Given the description of an element on the screen output the (x, y) to click on. 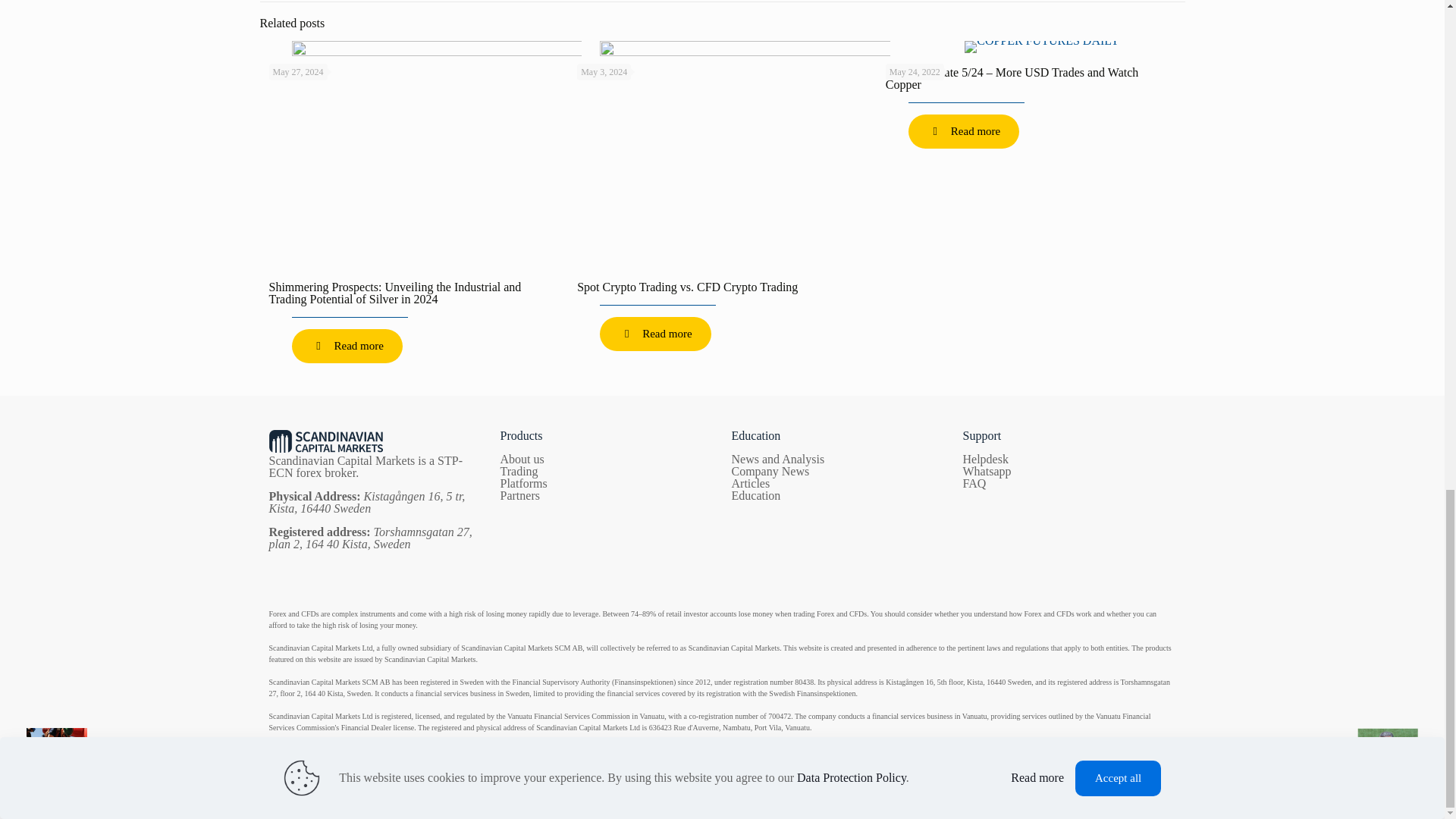
Read more (346, 346)
Spot Crypto Trading vs. CFD Crypto Trading (686, 286)
Read more (654, 333)
